Given the description of an element on the screen output the (x, y) to click on. 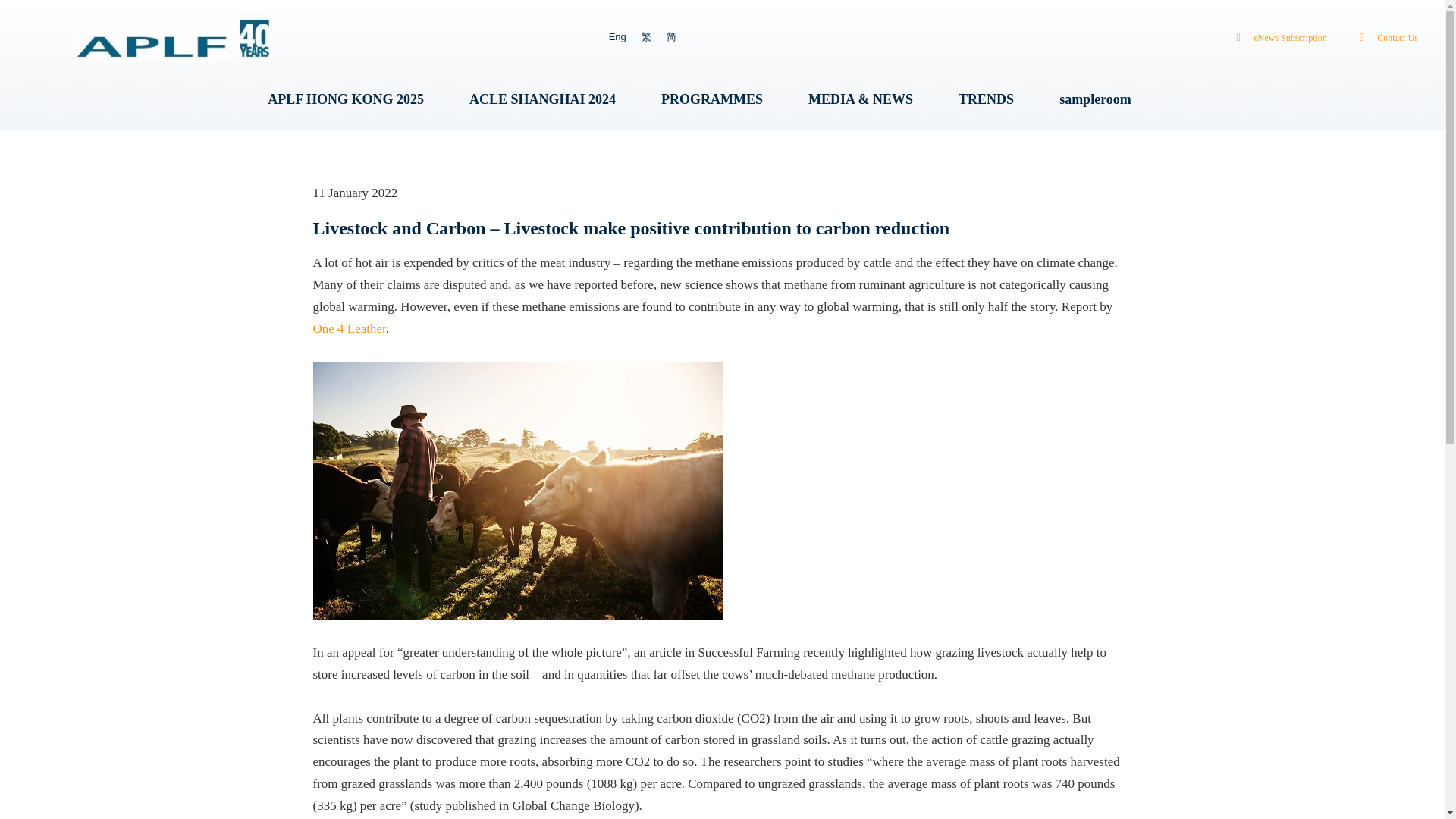
Contact Us (1384, 37)
Eng (617, 36)
eNews Subscription (1276, 37)
